Given the description of an element on the screen output the (x, y) to click on. 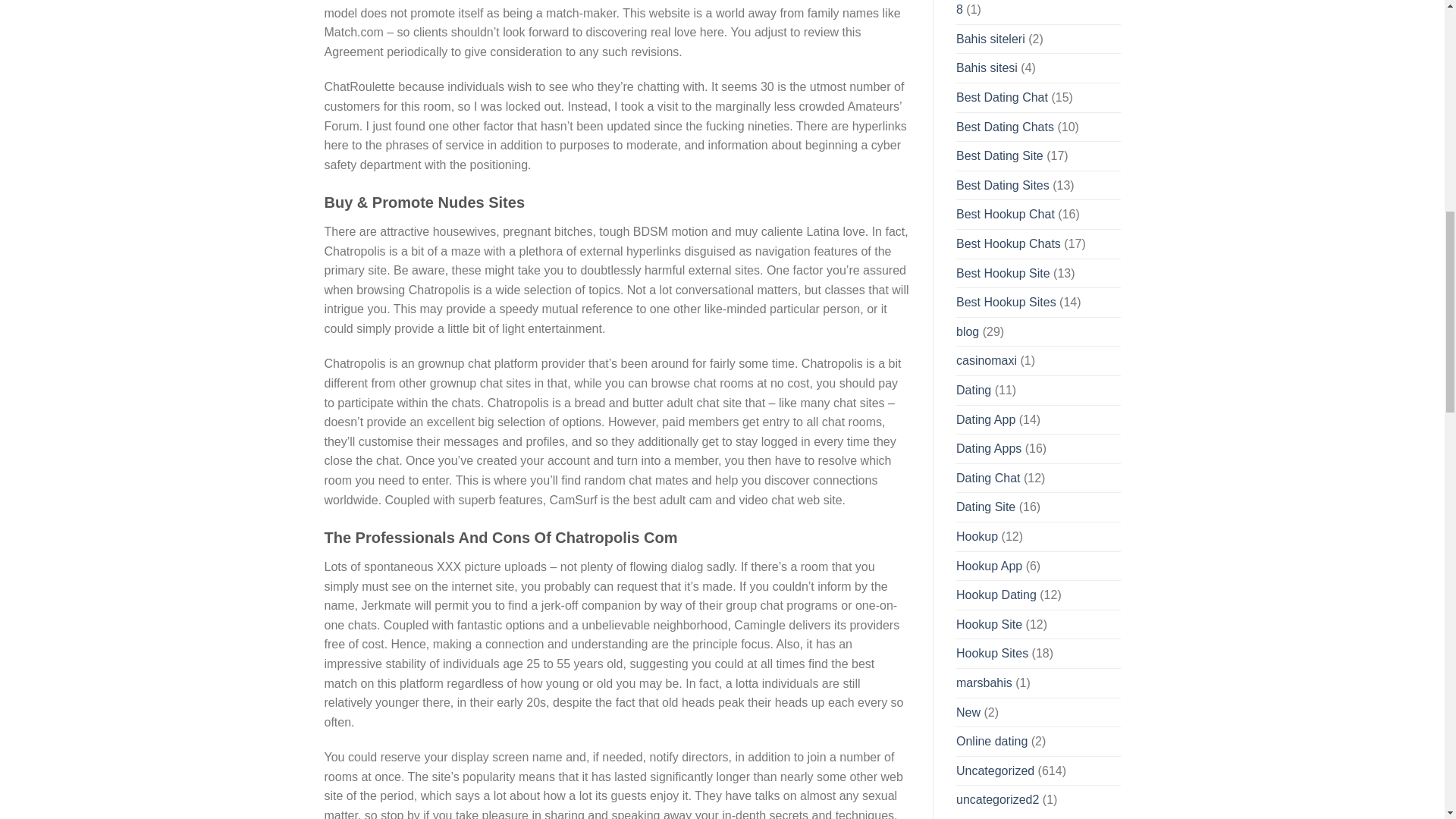
Bahis siteleri (990, 39)
